Given the description of an element on the screen output the (x, y) to click on. 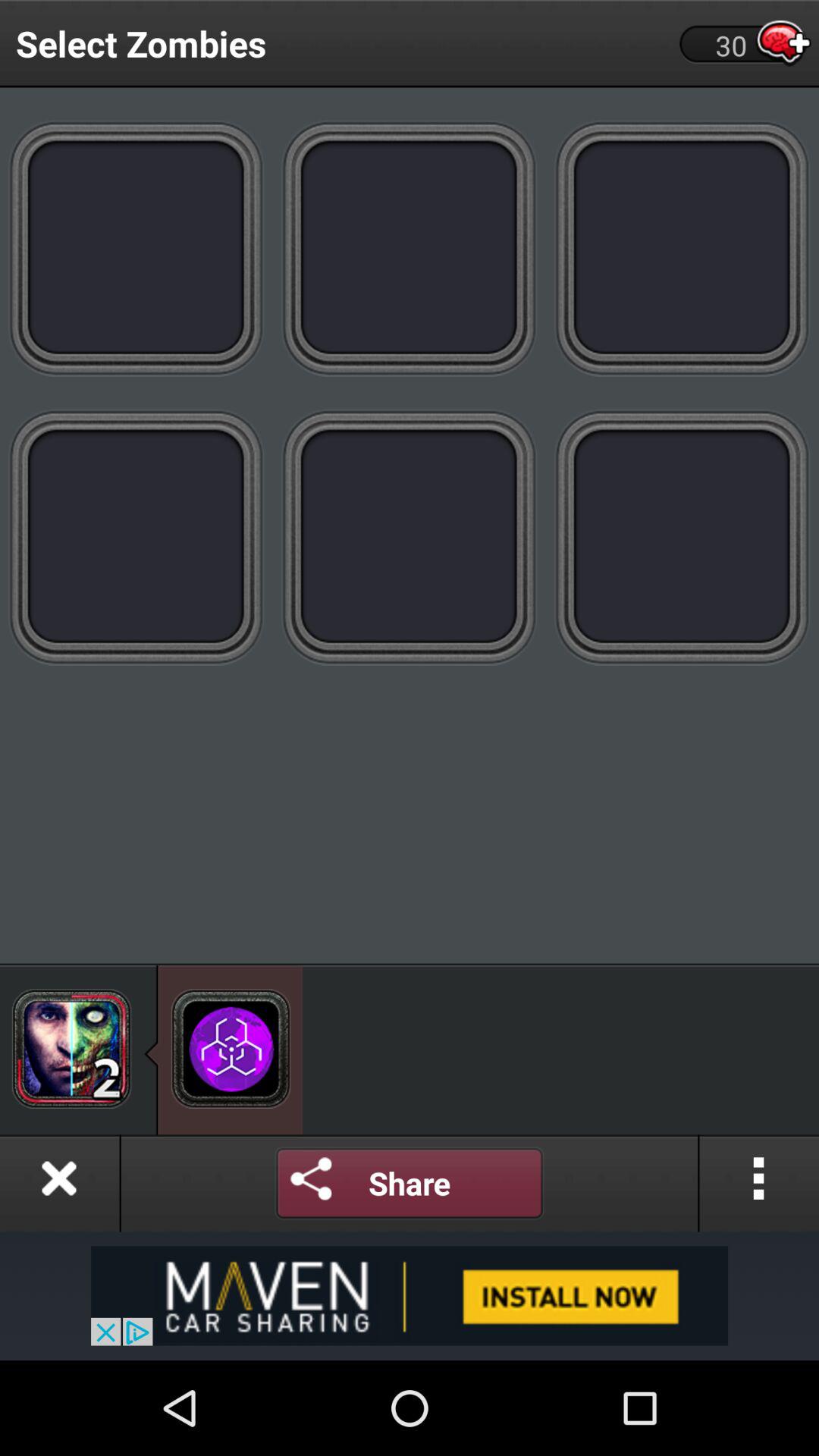
go to advertisement (682, 536)
